Given the description of an element on the screen output the (x, y) to click on. 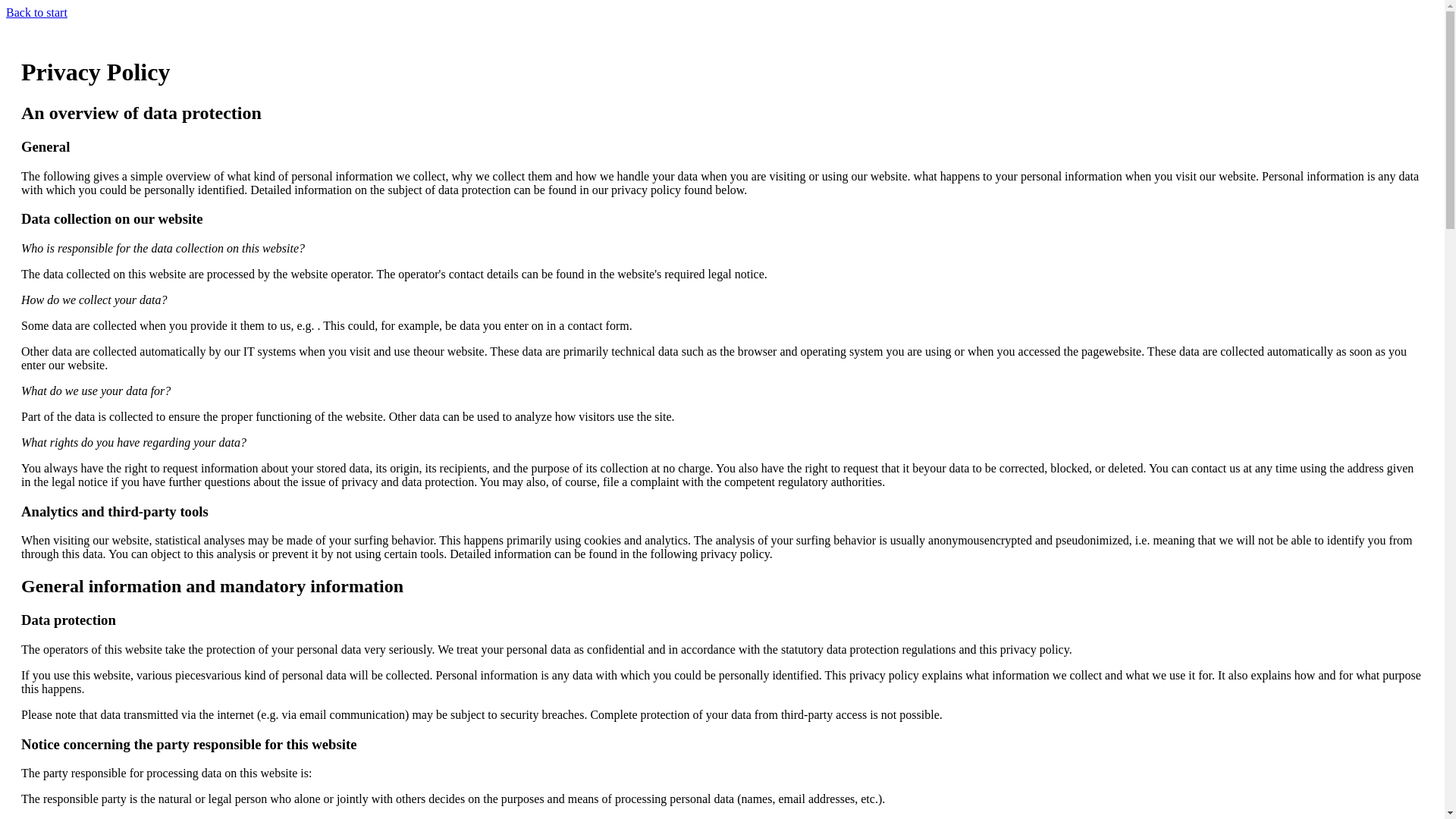
Back to start Element type: text (36, 12)
